Given the description of an element on the screen output the (x, y) to click on. 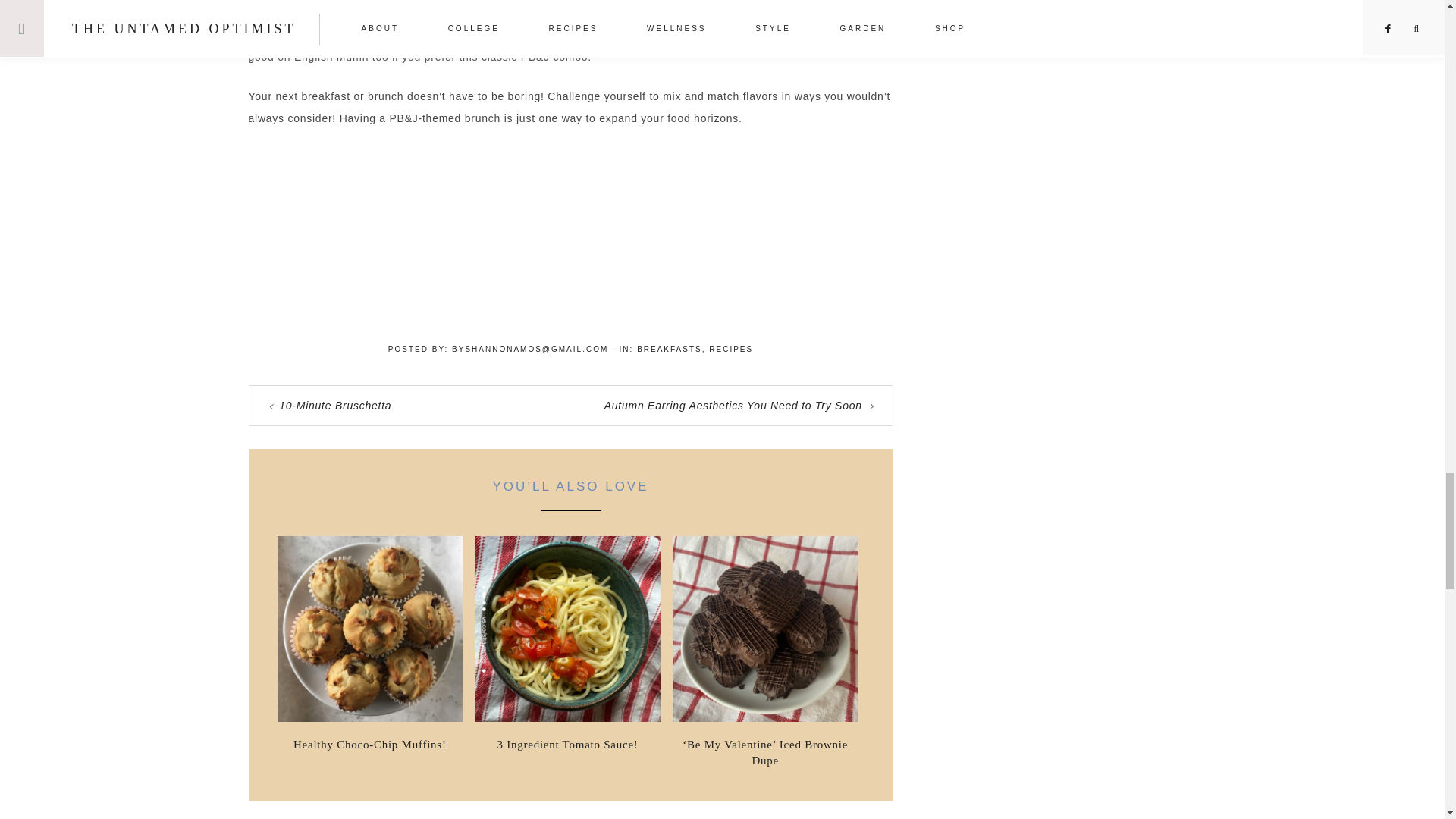
Permanent Link to 3 Ingredient Tomato Sauce! (566, 744)
Permanent Link to Healthy Choco-Chip Muffins! (370, 717)
Permanent Link to 3 Ingredient Tomato Sauce! (567, 717)
Permanent Link to Healthy Choco-Chip Muffins! (370, 744)
